Given the description of an element on the screen output the (x, y) to click on. 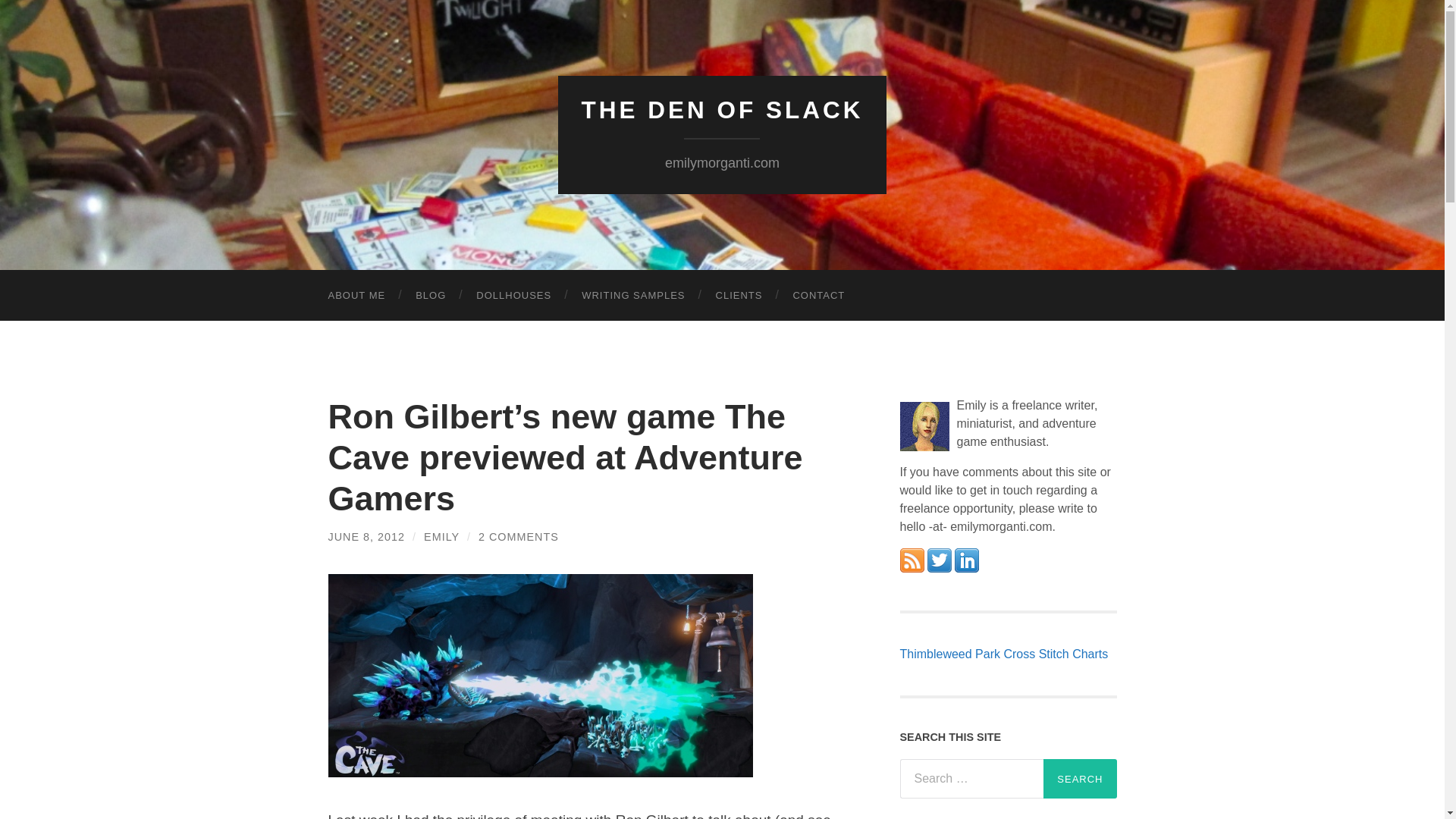
CONTACT (818, 295)
JUNE 8, 2012 (365, 536)
EMILY (441, 536)
Posts by Emily (441, 536)
DOLLHOUSES (513, 295)
Search (1079, 778)
2 COMMENTS (519, 536)
WRITING SAMPLES (633, 295)
THE DEN OF SLACK (721, 109)
BLOG (430, 295)
